Given the description of an element on the screen output the (x, y) to click on. 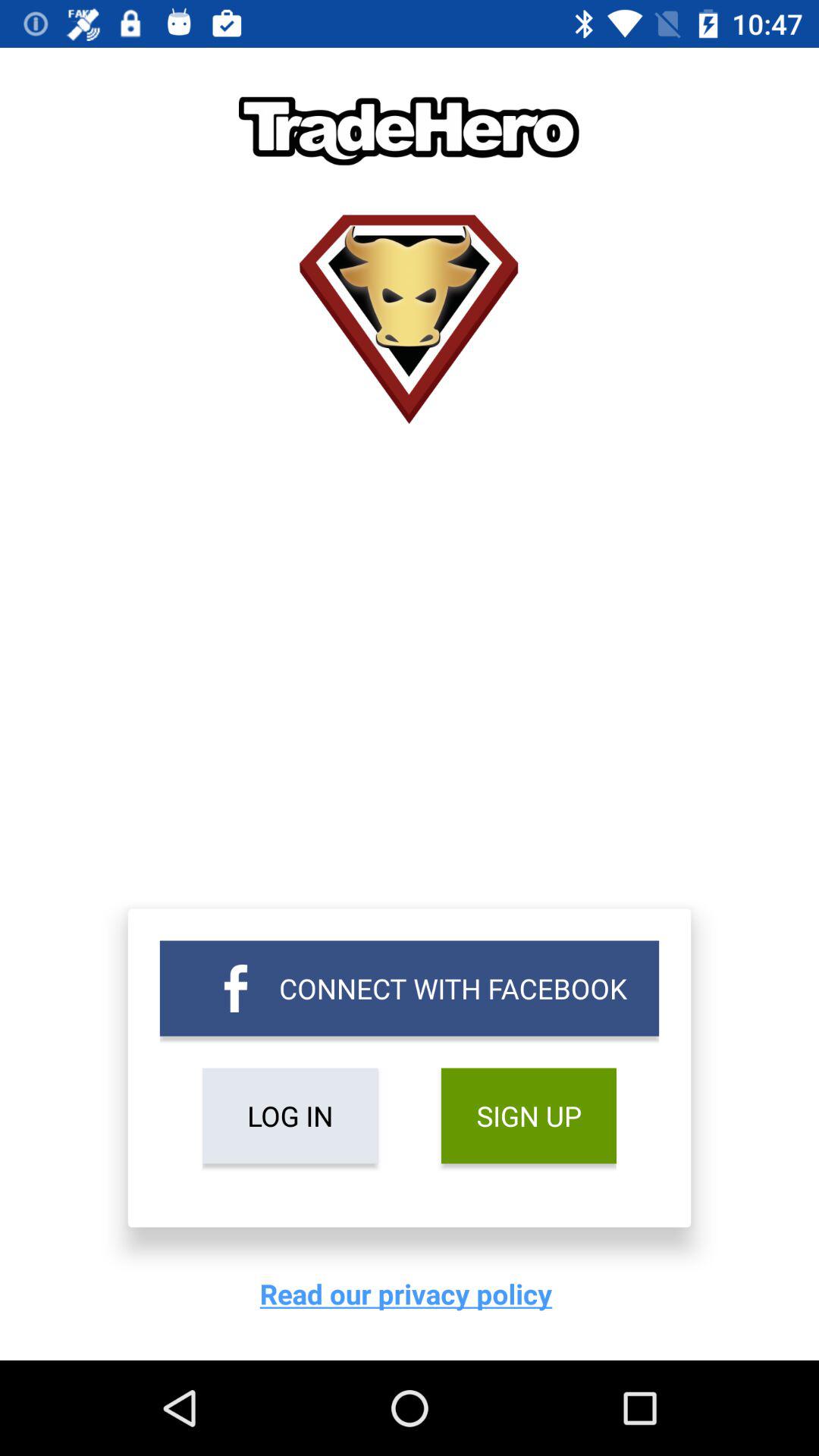
open sign up (528, 1115)
